Given the description of an element on the screen output the (x, y) to click on. 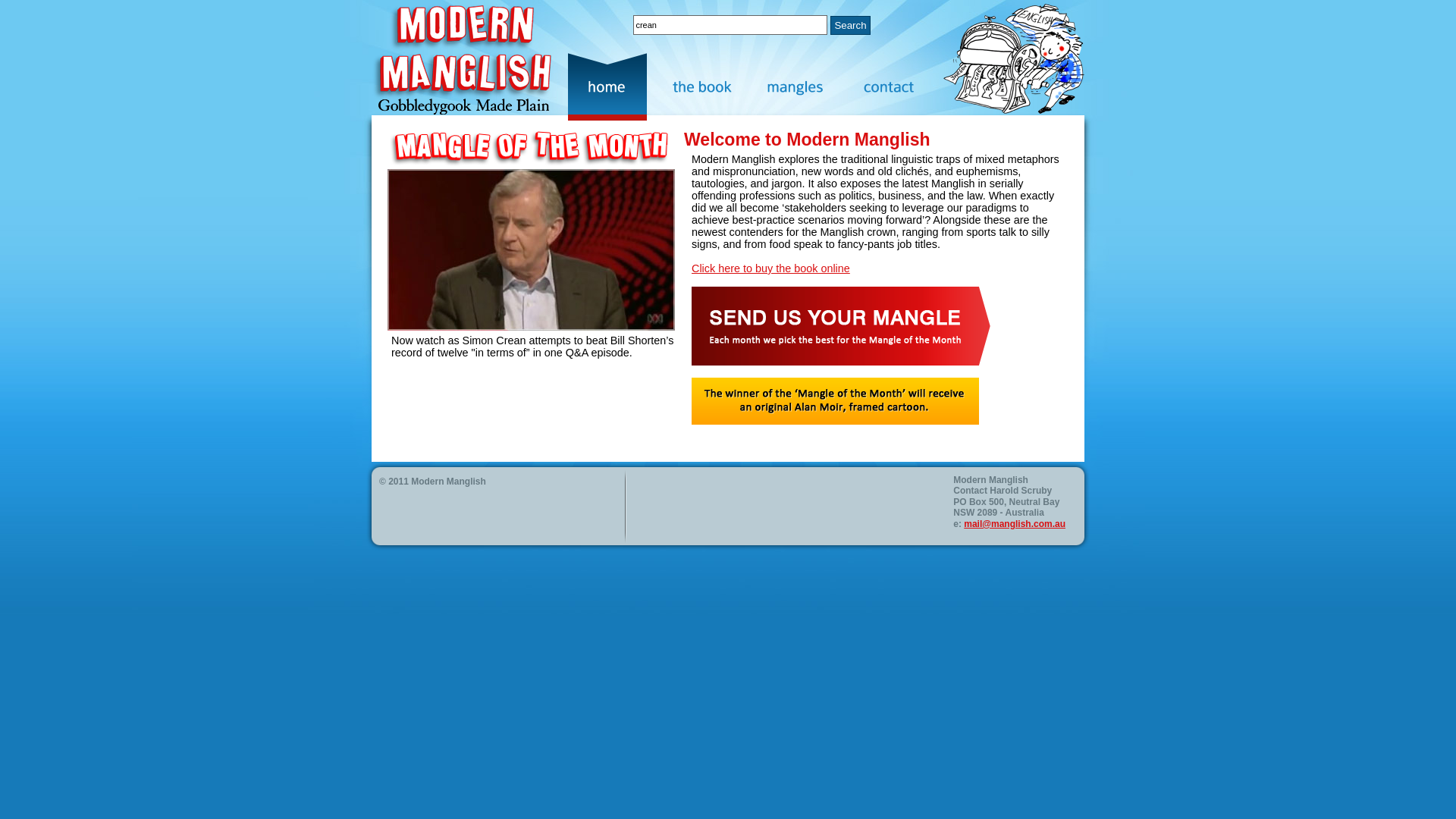
Click here to buy the book online Element type: text (770, 268)
Contact Element type: text (897, 86)
Mangles Element type: text (803, 86)
mail@manglish.com.au Element type: text (1014, 523)
Book Element type: text (709, 86)
Search Element type: text (849, 24)
Home Element type: text (614, 86)
